Given the description of an element on the screen output the (x, y) to click on. 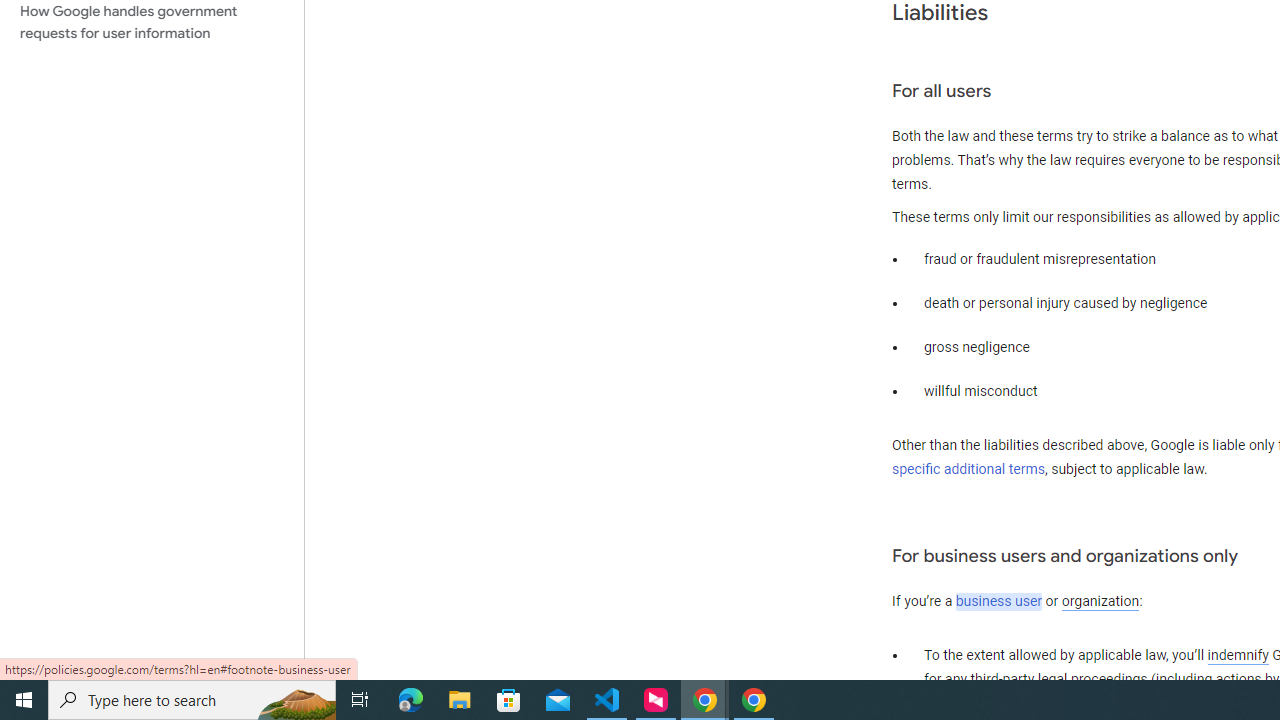
indemnify (1237, 656)
business user (998, 602)
organization (1100, 602)
